Given the description of an element on the screen output the (x, y) to click on. 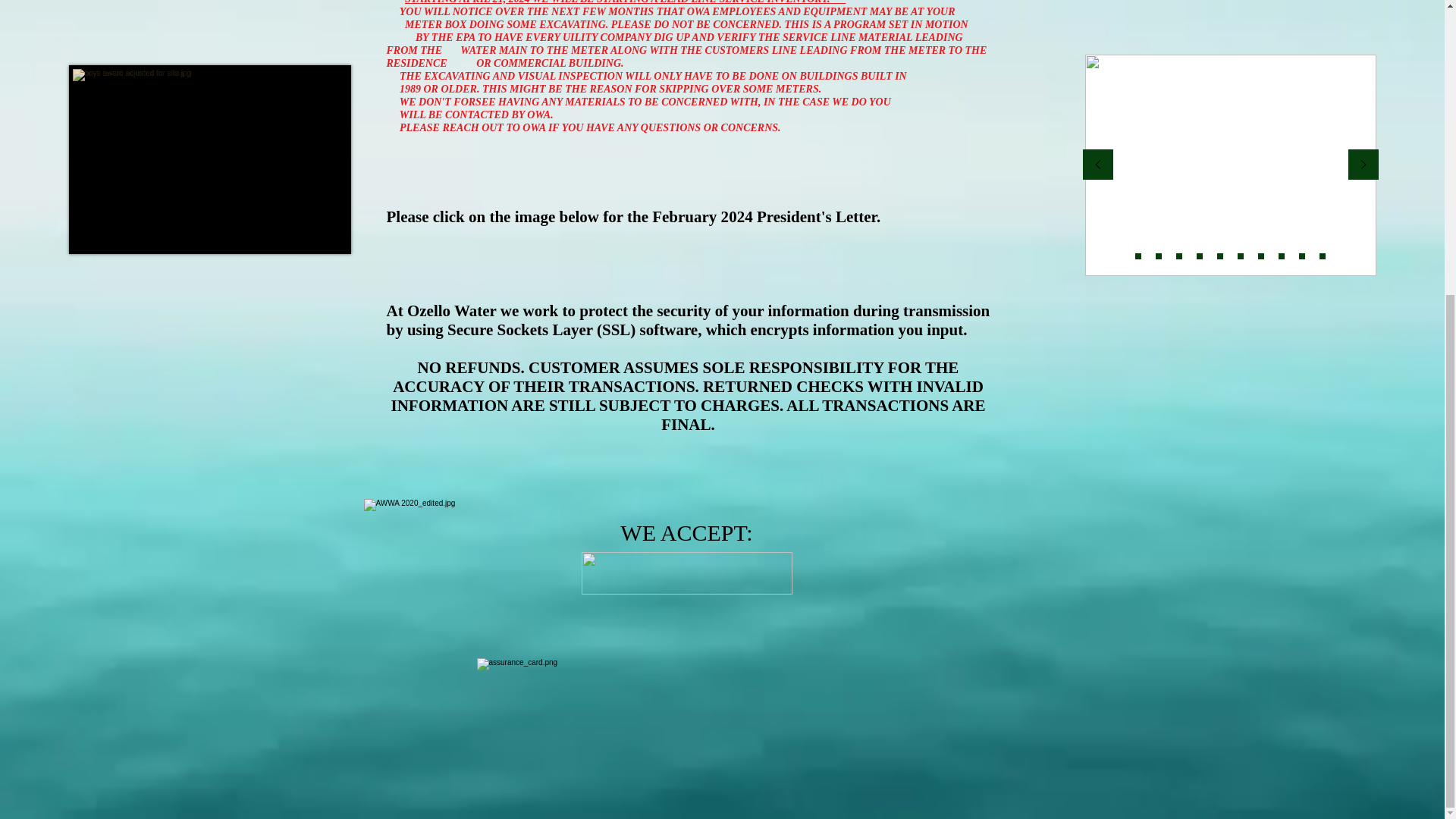
726649.jpg (686, 573)
SIGNED PRESIDENTS LETTER 2-15-24.pdf (655, 227)
